Given the description of an element on the screen output the (x, y) to click on. 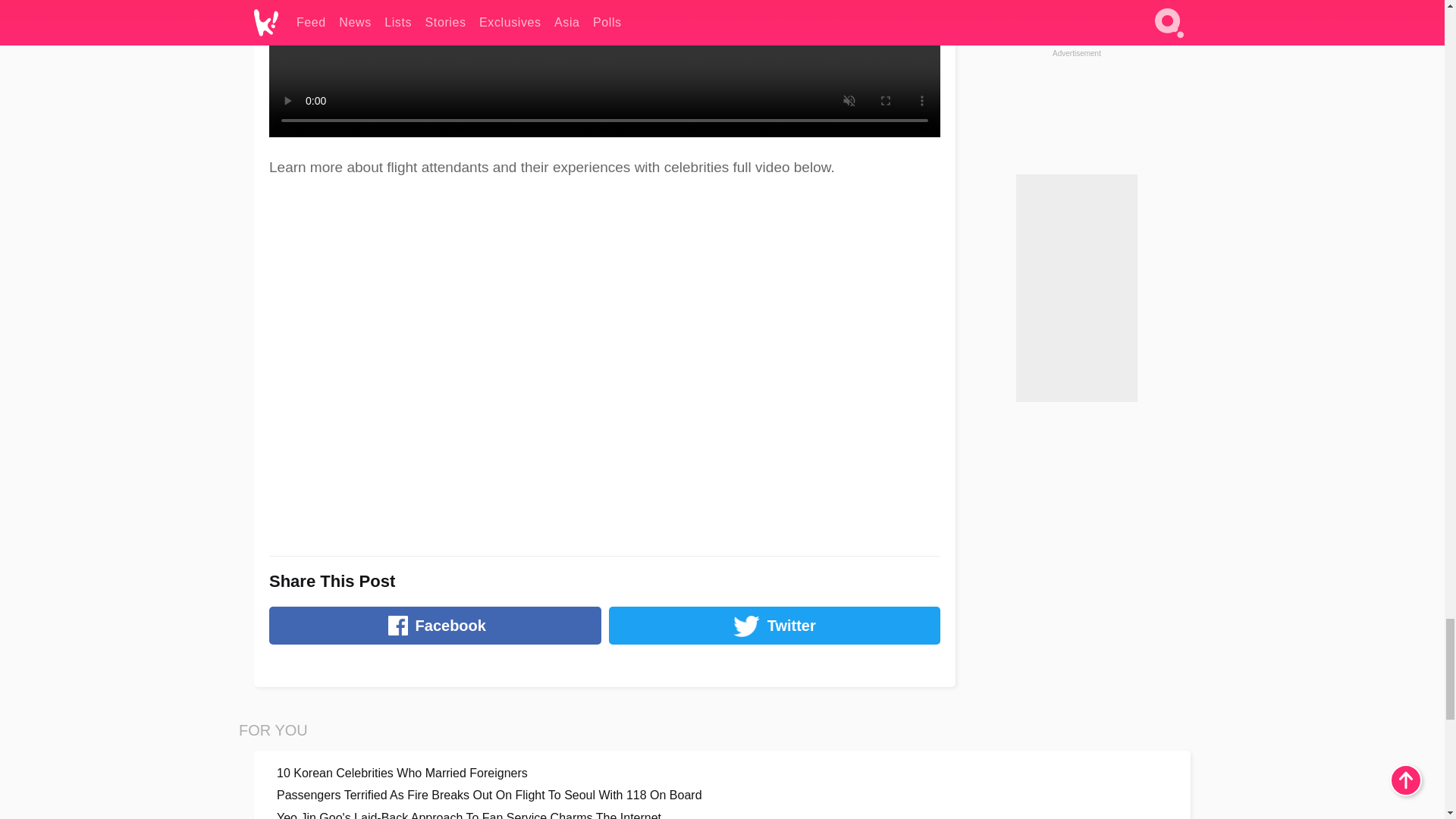
10 Korean Celebrities Who Married Foreigners (721, 772)
